Given the description of an element on the screen output the (x, y) to click on. 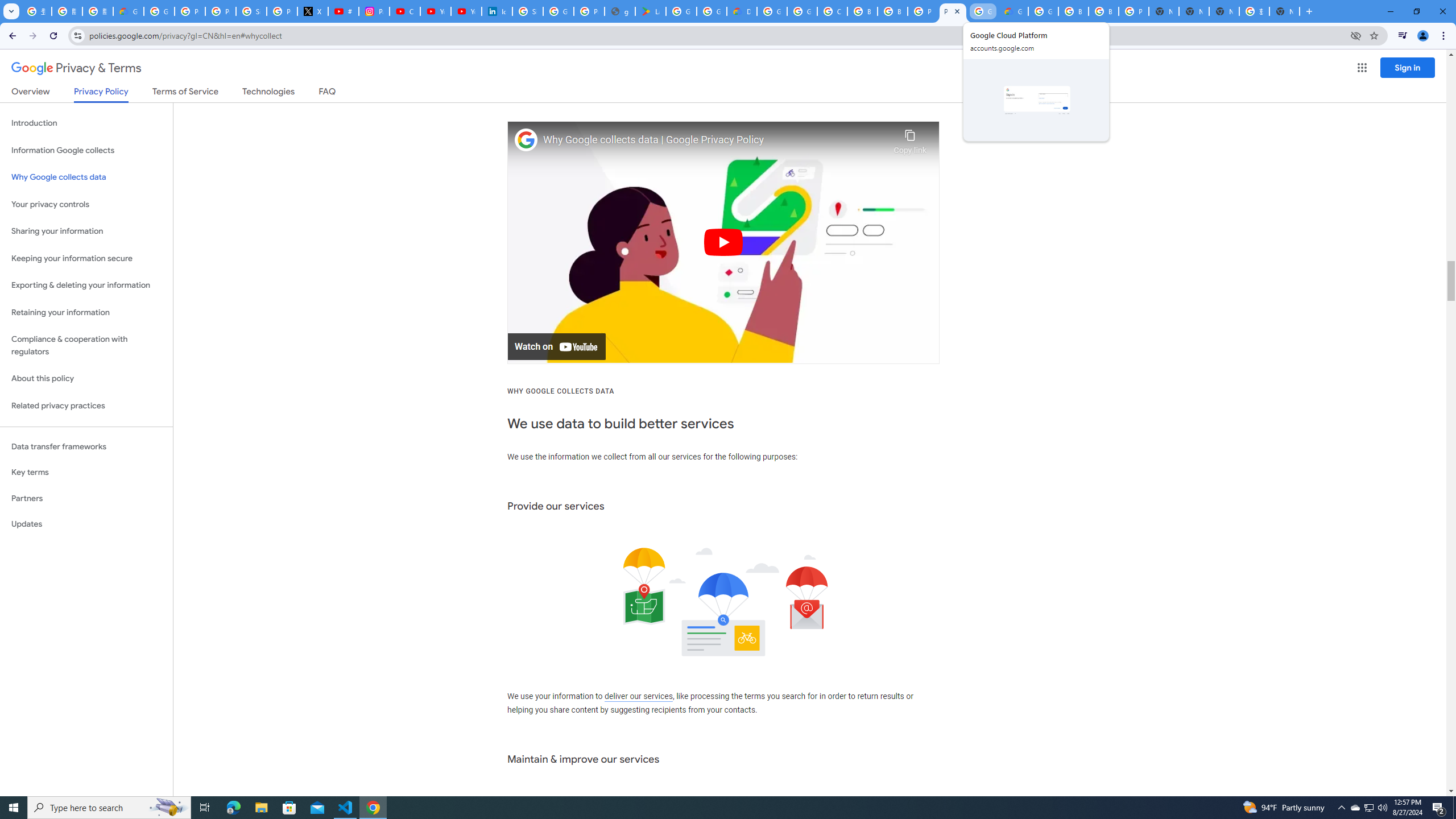
Keeping your information secure (86, 258)
Technologies (268, 93)
Sign in - Google Accounts (527, 11)
Introduction (86, 122)
Partners (86, 497)
Updates (86, 524)
Google apps (1362, 67)
FAQ (327, 93)
